Given the description of an element on the screen output the (x, y) to click on. 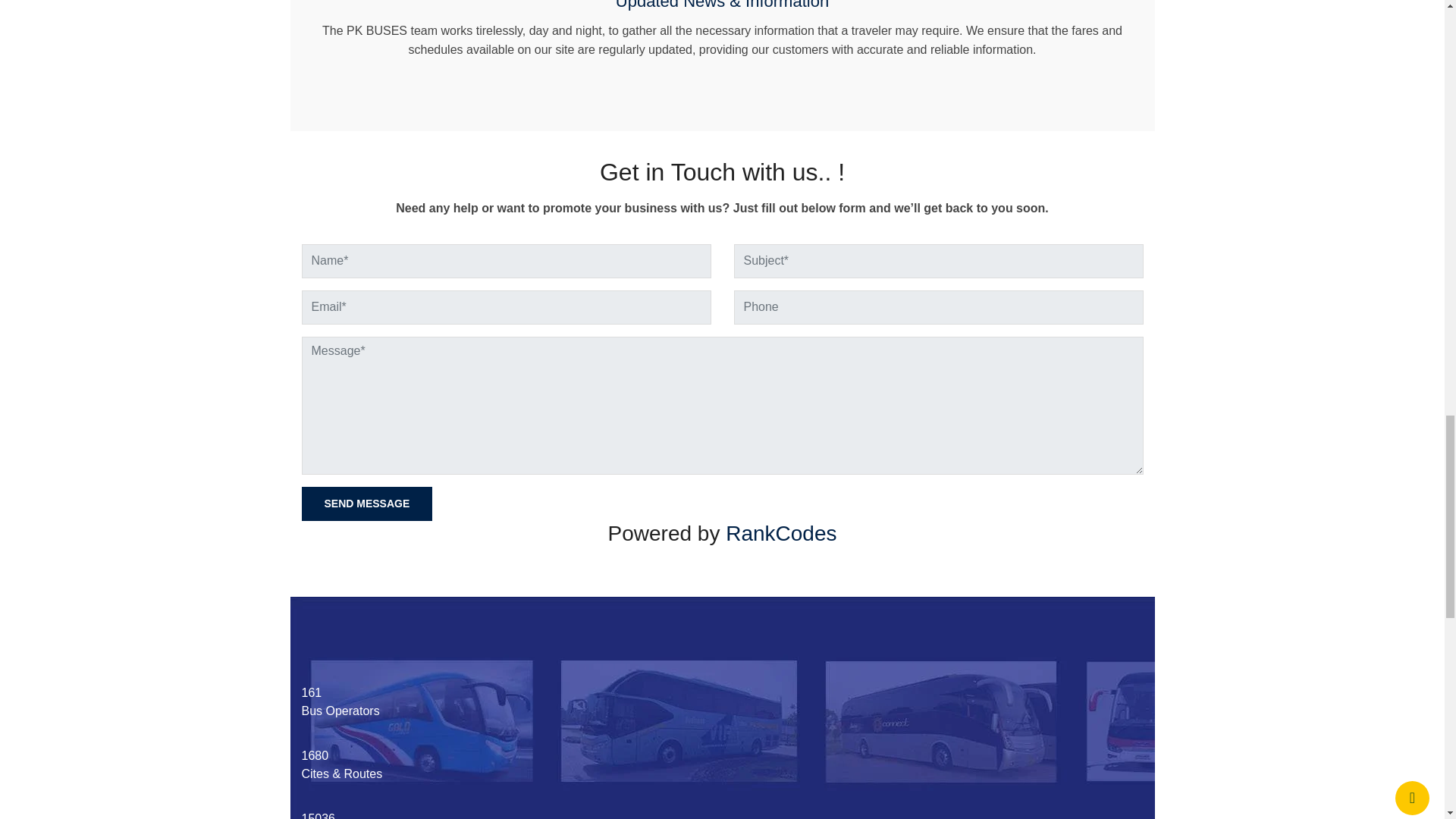
SEND MESSAGE (366, 503)
